Given the description of an element on the screen output the (x, y) to click on. 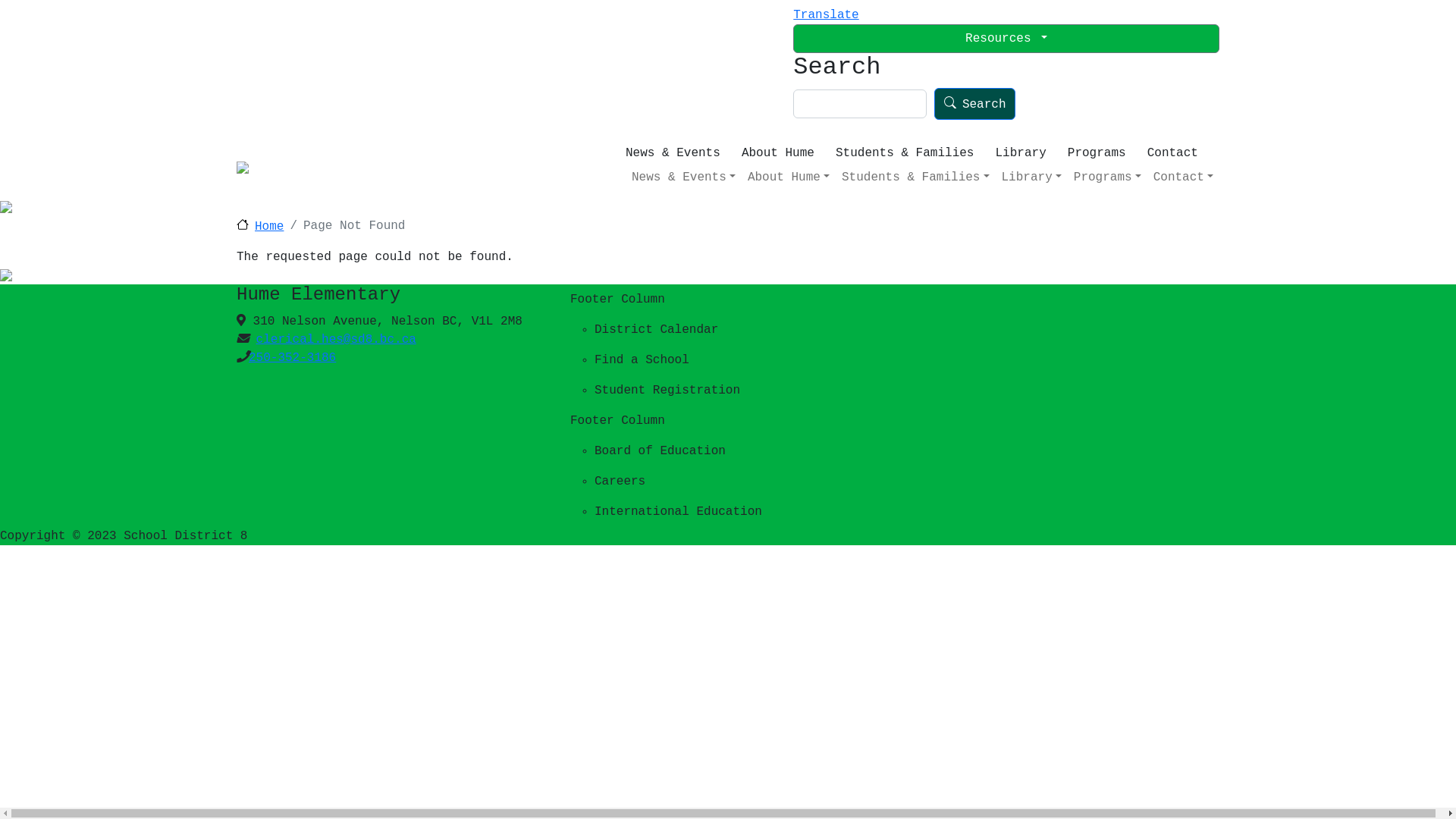
Student Registration Element type: text (781, 390)
Board of Education Element type: text (781, 451)
International Education Element type: text (781, 511)
Search Element type: text (975, 103)
250-352-3186 Element type: text (291, 357)
Home Element type: text (259, 226)
clerical.hes@sd8.bc.ca Element type: text (336, 339)
Enter the terms you wish to search for. Element type: hover (859, 103)
Find a School Element type: text (781, 360)
Resources Element type: text (1006, 38)
Translate Element type: text (825, 14)
District Calendar Element type: text (781, 329)
Careers Element type: text (781, 481)
